Given the description of an element on the screen output the (x, y) to click on. 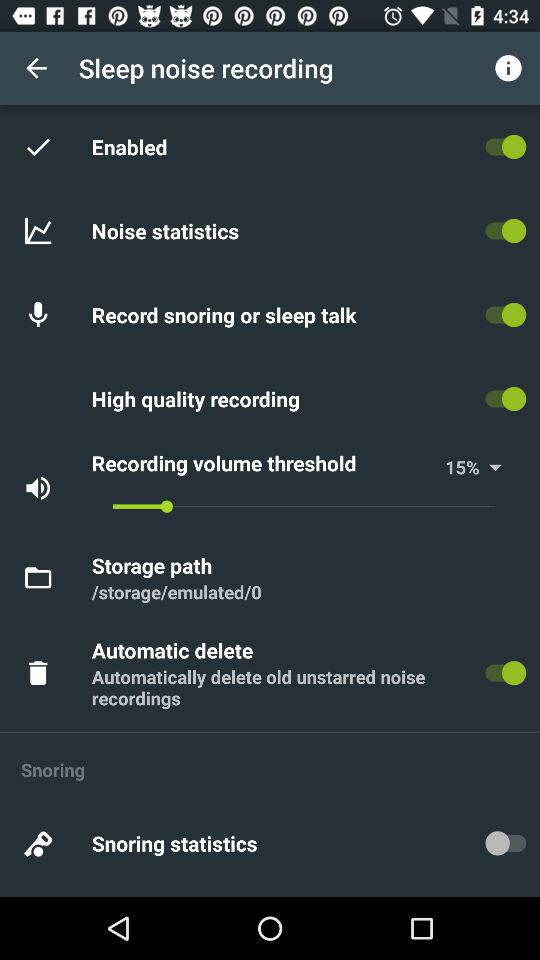
open item above the storage path item (303, 506)
